Given the description of an element on the screen output the (x, y) to click on. 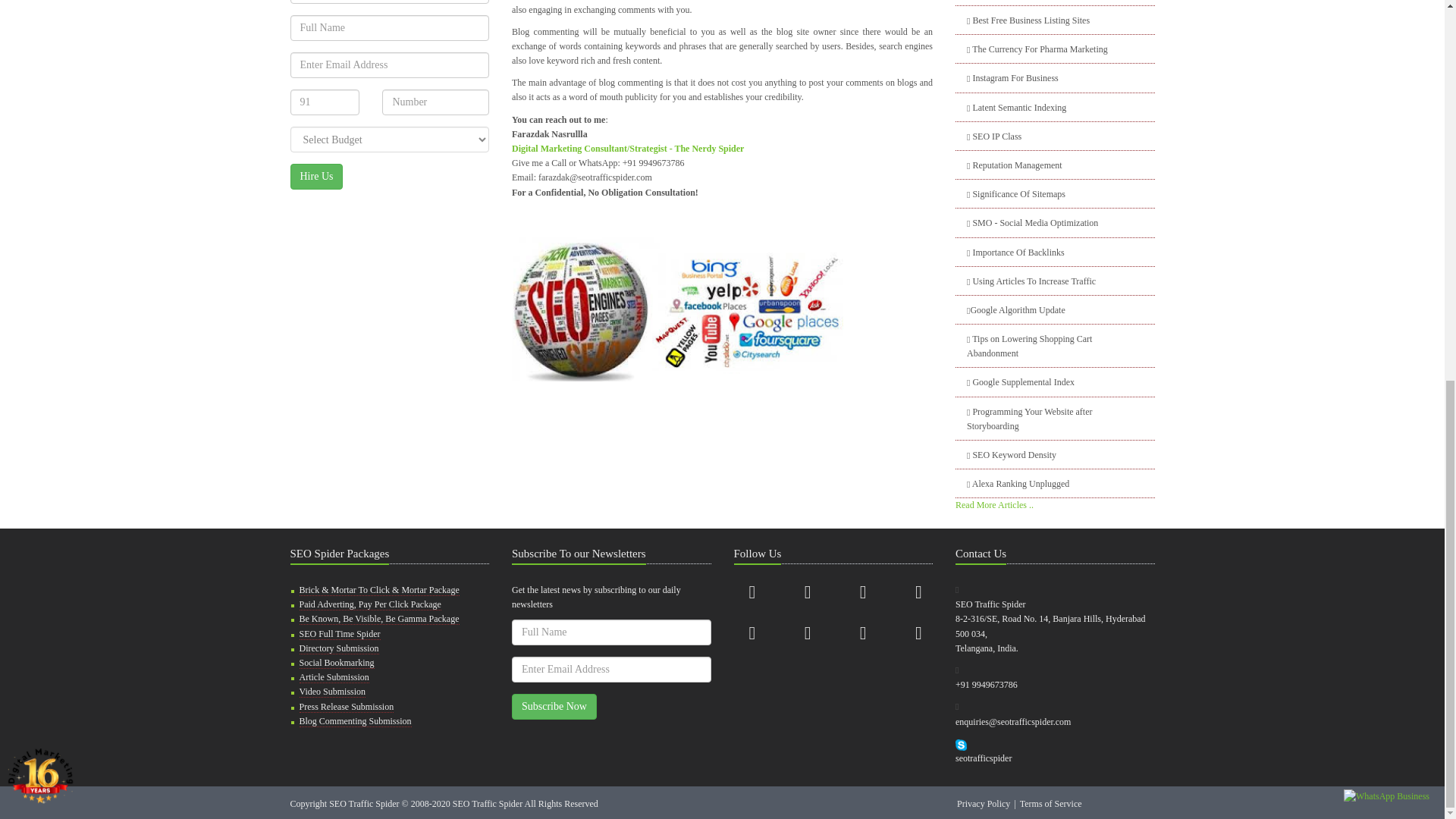
Hire Us (315, 176)
